Given the description of an element on the screen output the (x, y) to click on. 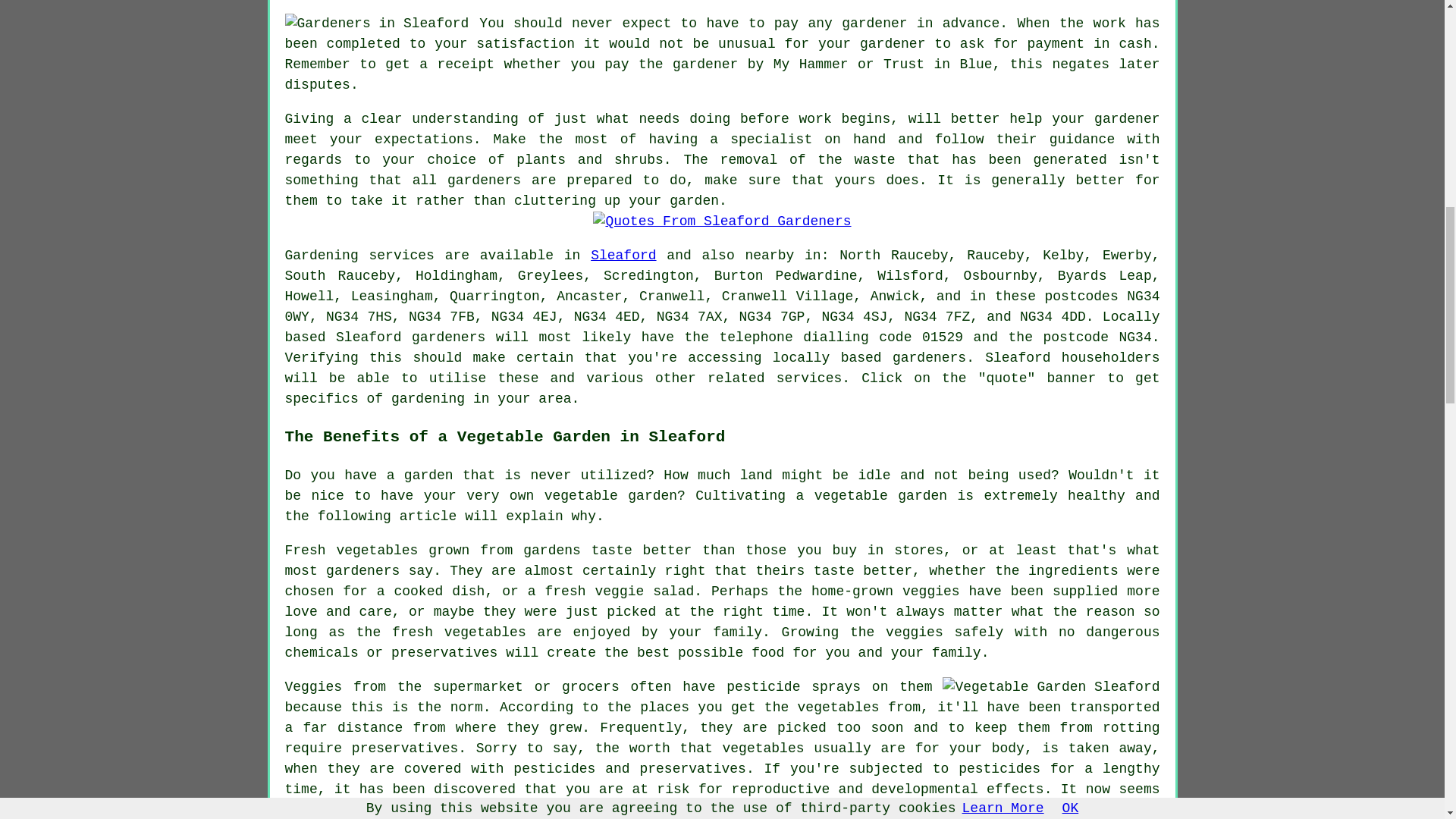
Gardening services (359, 255)
Quotes From Sleaford Gardeners (721, 221)
Vegetable Garden Sleaford (1050, 687)
gardeners (929, 357)
gardeners (448, 337)
